Given the description of an element on the screen output the (x, y) to click on. 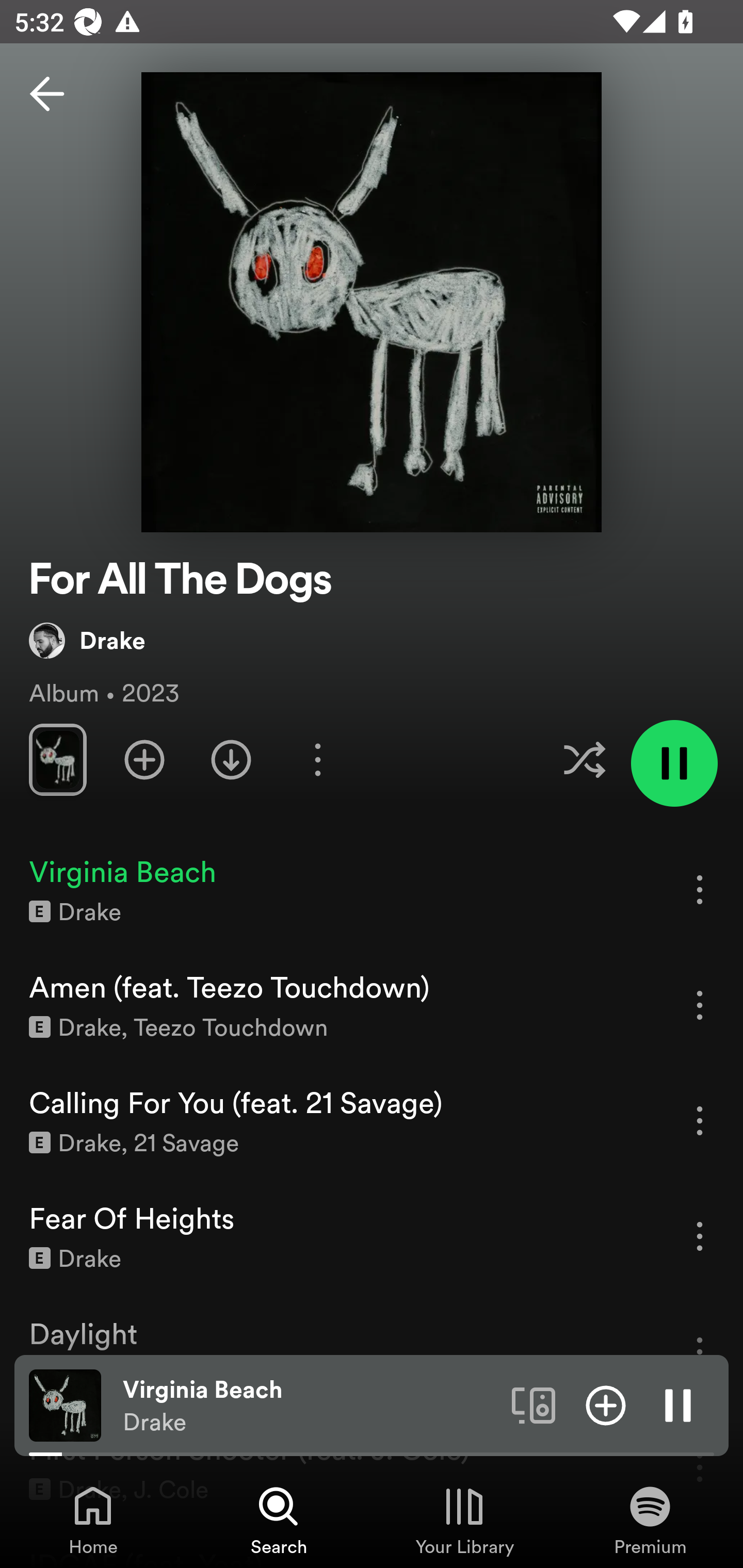
Back (46, 93)
Drake (86, 640)
Swipe through previews of tracks from this album. (57, 759)
Add playlist to Your Library (144, 759)
Download (230, 759)
More options for playlist For All The Dogs (317, 759)
Enable shuffle for this playlist (583, 759)
Pause playlist (674, 763)
More options for song Virginia Beach (699, 889)
More options for song Amen (feat. Teezo Touchdown) (699, 1004)
More options for song Fear Of Heights (699, 1236)
Virginia Beach Drake (309, 1405)
The cover art of the currently playing track (64, 1404)
Connect to a device. Opens the devices menu (533, 1404)
Add item (605, 1404)
Pause (677, 1404)
Home, Tab 1 of 4 Home Home (92, 1519)
Search, Tab 2 of 4 Search Search (278, 1519)
Your Library, Tab 3 of 4 Your Library Your Library (464, 1519)
Premium, Tab 4 of 4 Premium Premium (650, 1519)
